Given the description of an element on the screen output the (x, y) to click on. 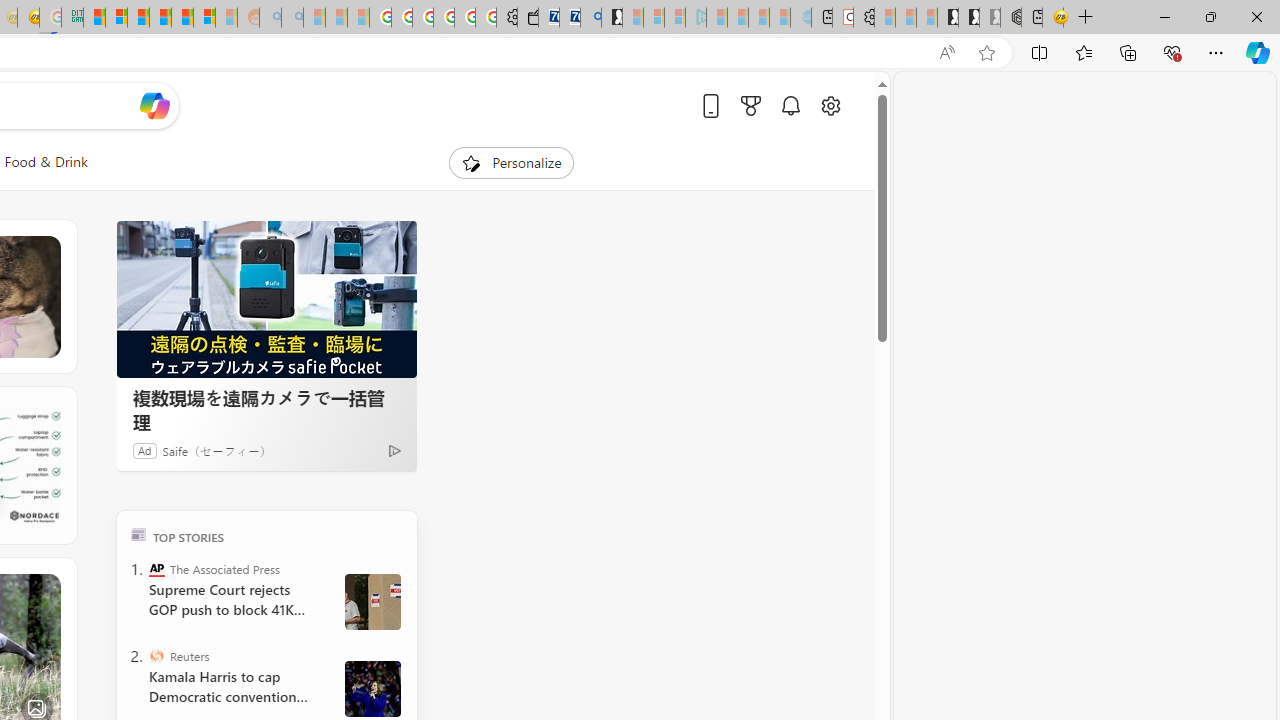
Personalize (511, 162)
